Given the description of an element on the screen output the (x, y) to click on. 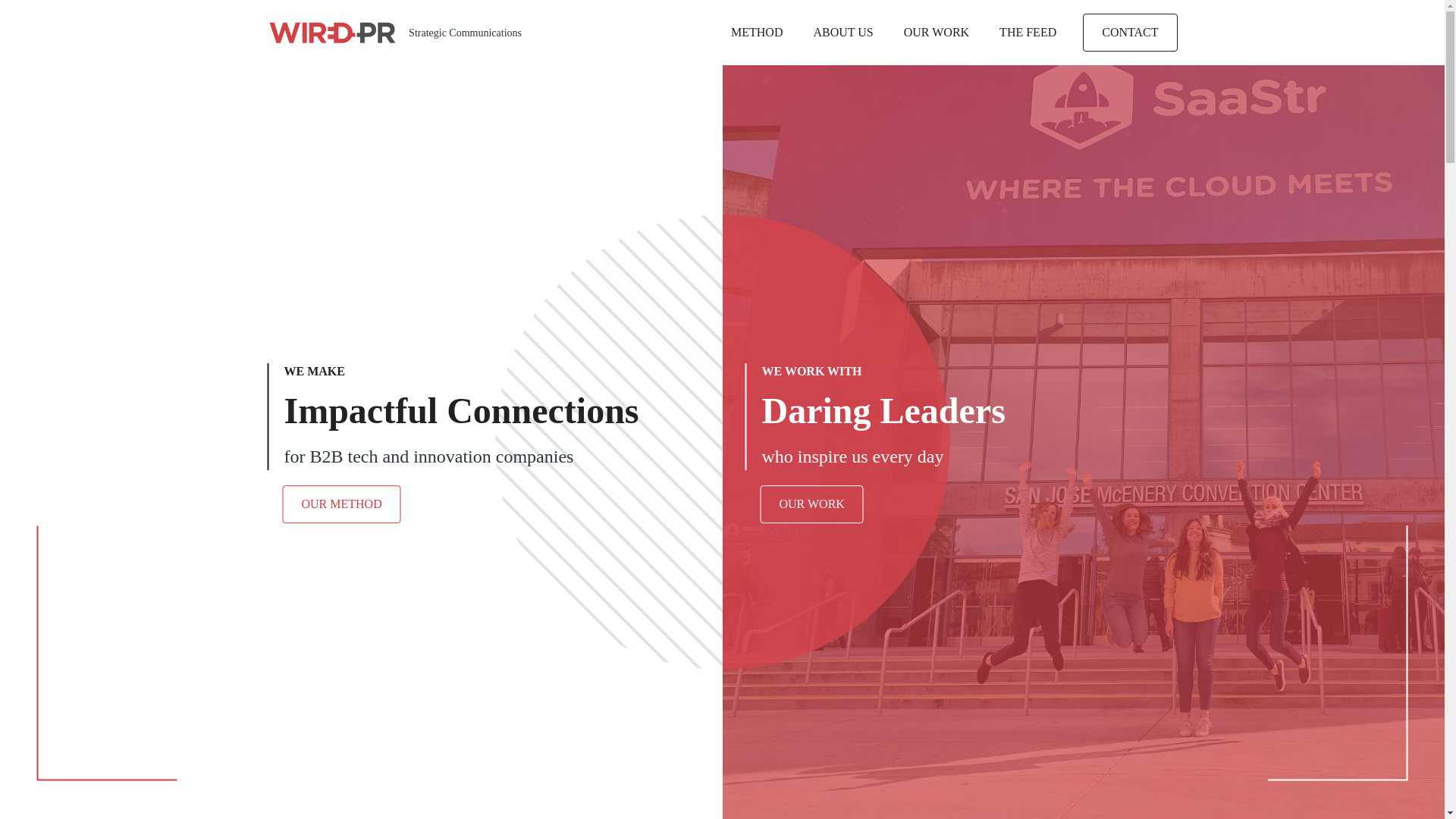
THE FEED (1027, 32)
OUR WORK (960, 416)
METHOD (811, 504)
ABOUT US (756, 32)
OUR WORK (842, 32)
OUR METHOD (936, 32)
CONTACT (341, 504)
